Given the description of an element on the screen output the (x, y) to click on. 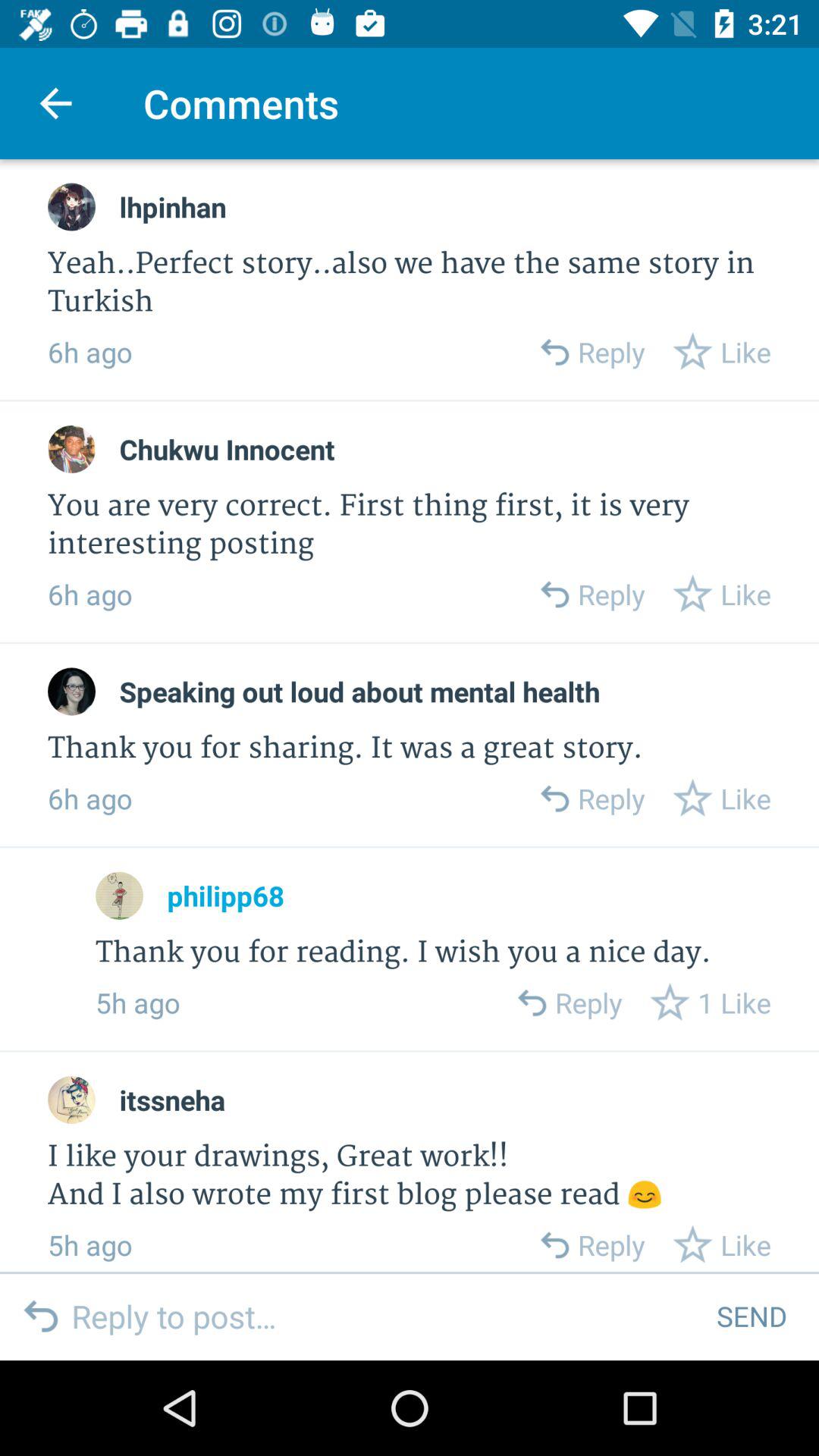
flip until chukwu innocent (226, 449)
